Given the description of an element on the screen output the (x, y) to click on. 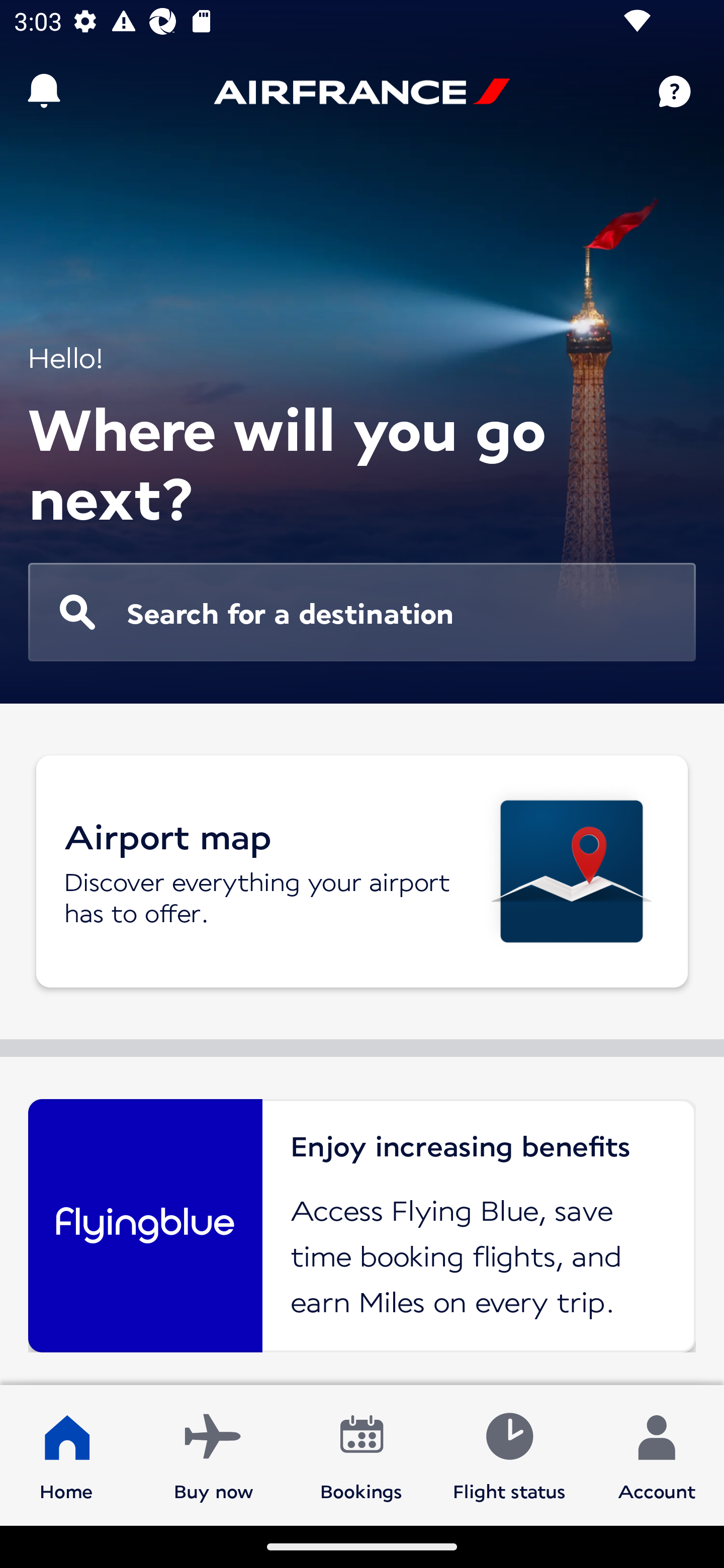
Search for a destination (361, 611)
Buy now (213, 1454)
Bookings (361, 1454)
Flight status (509, 1454)
Account (657, 1454)
